Given the description of an element on the screen output the (x, y) to click on. 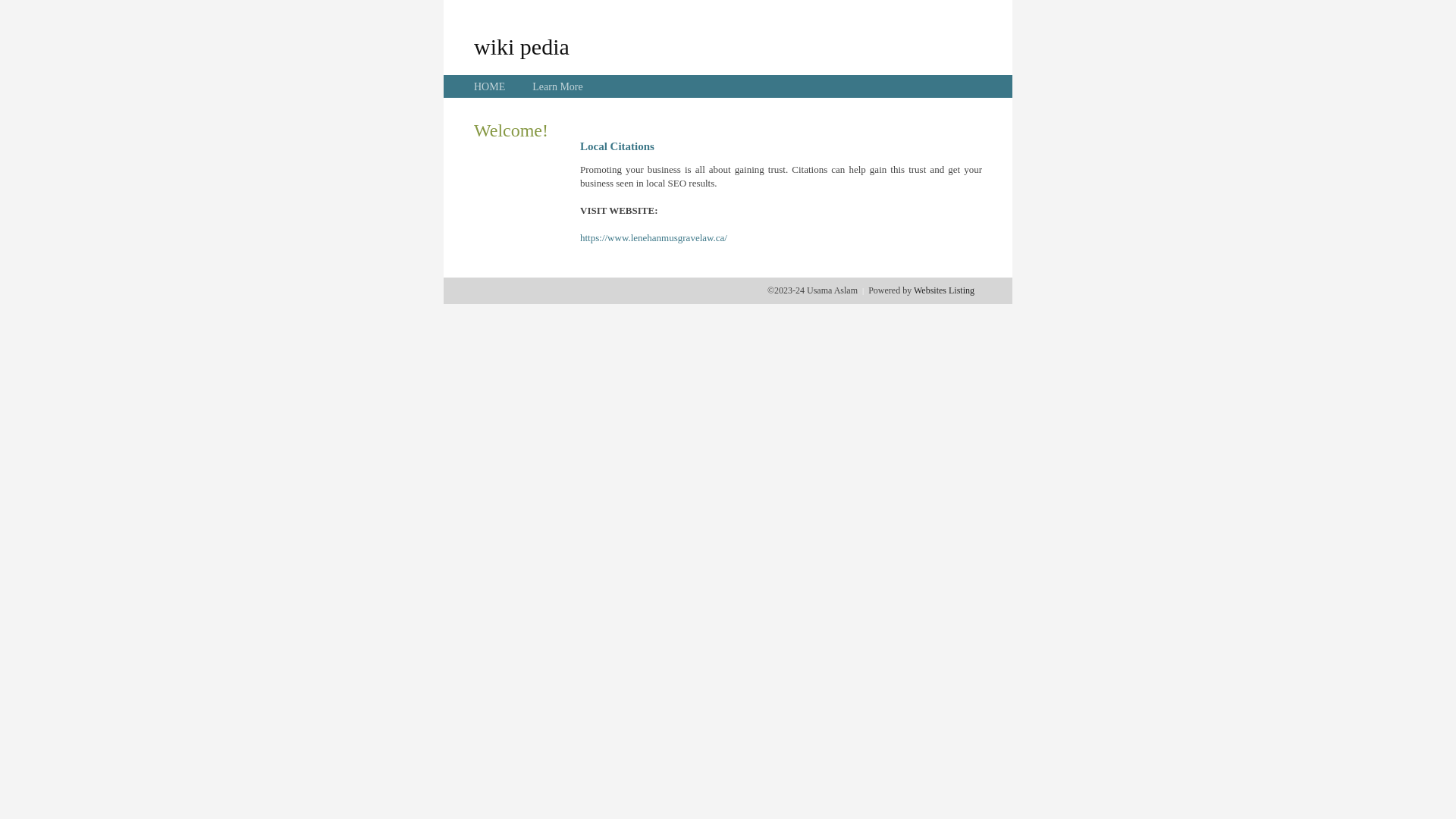
https://www.lenehanmusgravelaw.ca/ Element type: text (653, 237)
wiki pedia Element type: text (521, 46)
Learn More Element type: text (557, 86)
Websites Listing Element type: text (943, 290)
HOME Element type: text (489, 86)
